Given the description of an element on the screen output the (x, y) to click on. 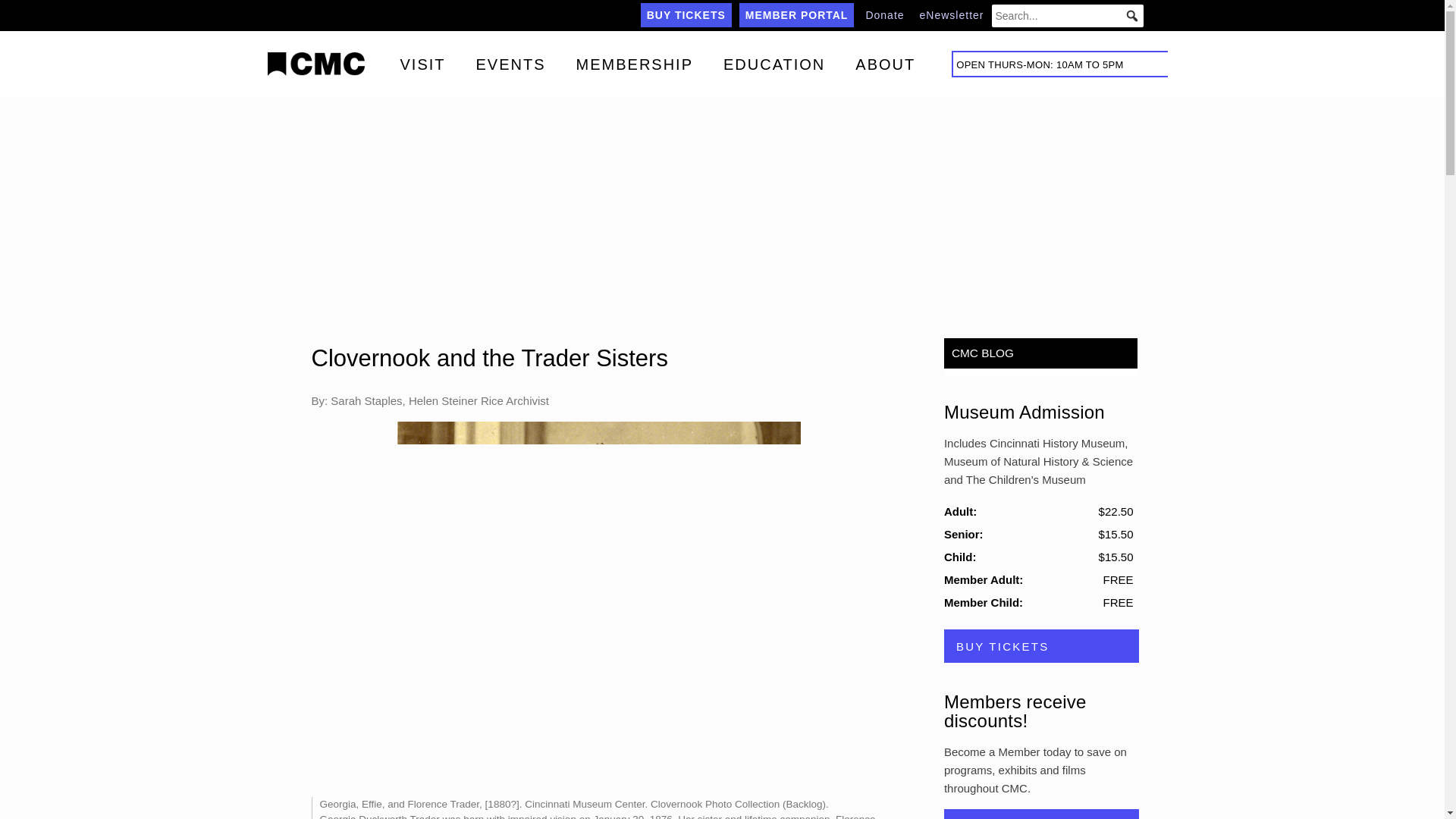
MEMBER PORTAL (796, 15)
VISIT (423, 63)
BUY TICKETS (686, 15)
EVENTS (510, 63)
Search (31, 14)
. (325, 64)
eNewsletter (951, 15)
Donate (884, 15)
